Given the description of an element on the screen output the (x, y) to click on. 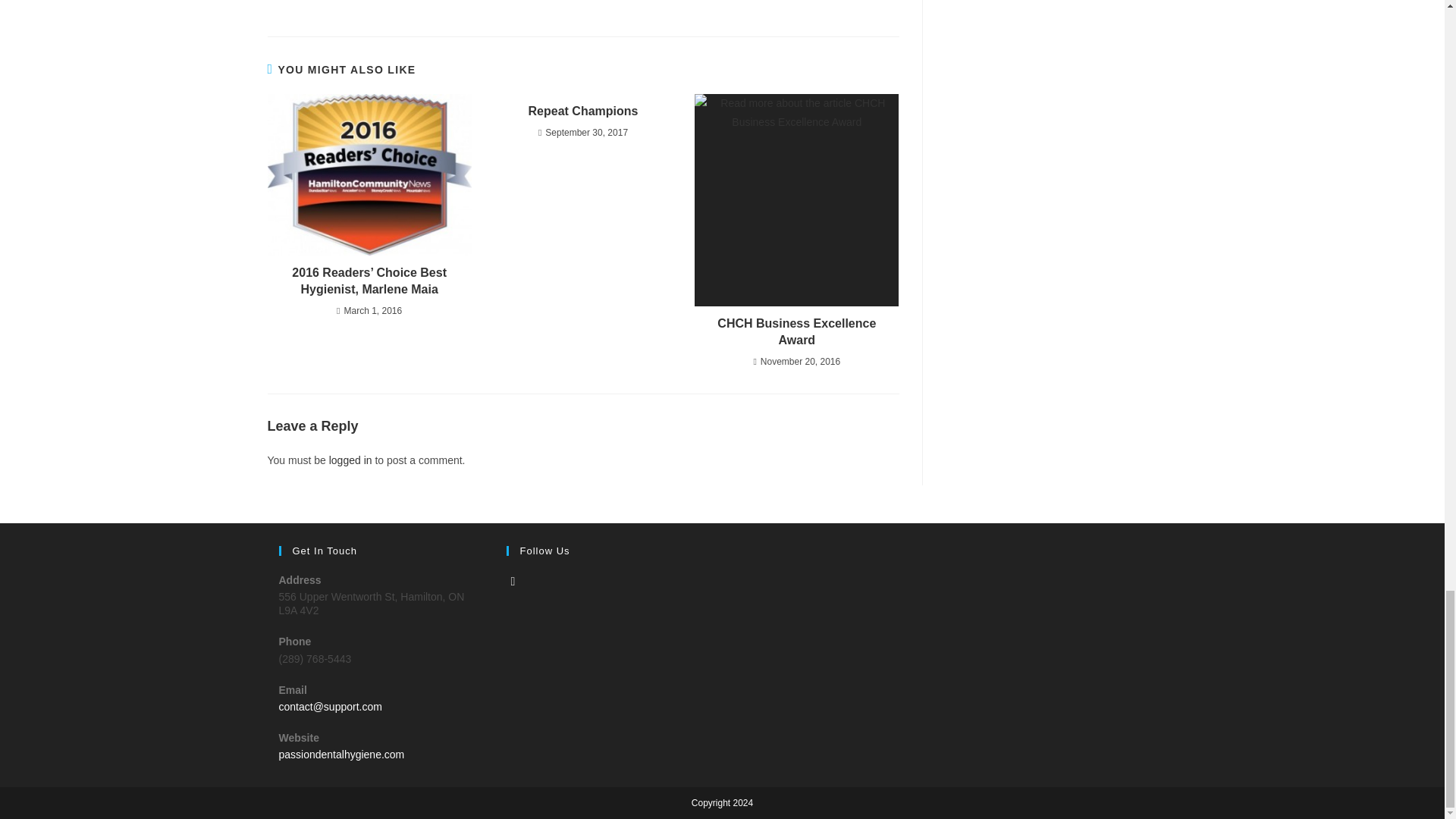
CHCH Business Excellence Award (796, 332)
logged in (350, 460)
Repeat Champions (582, 111)
